Given the description of an element on the screen output the (x, y) to click on. 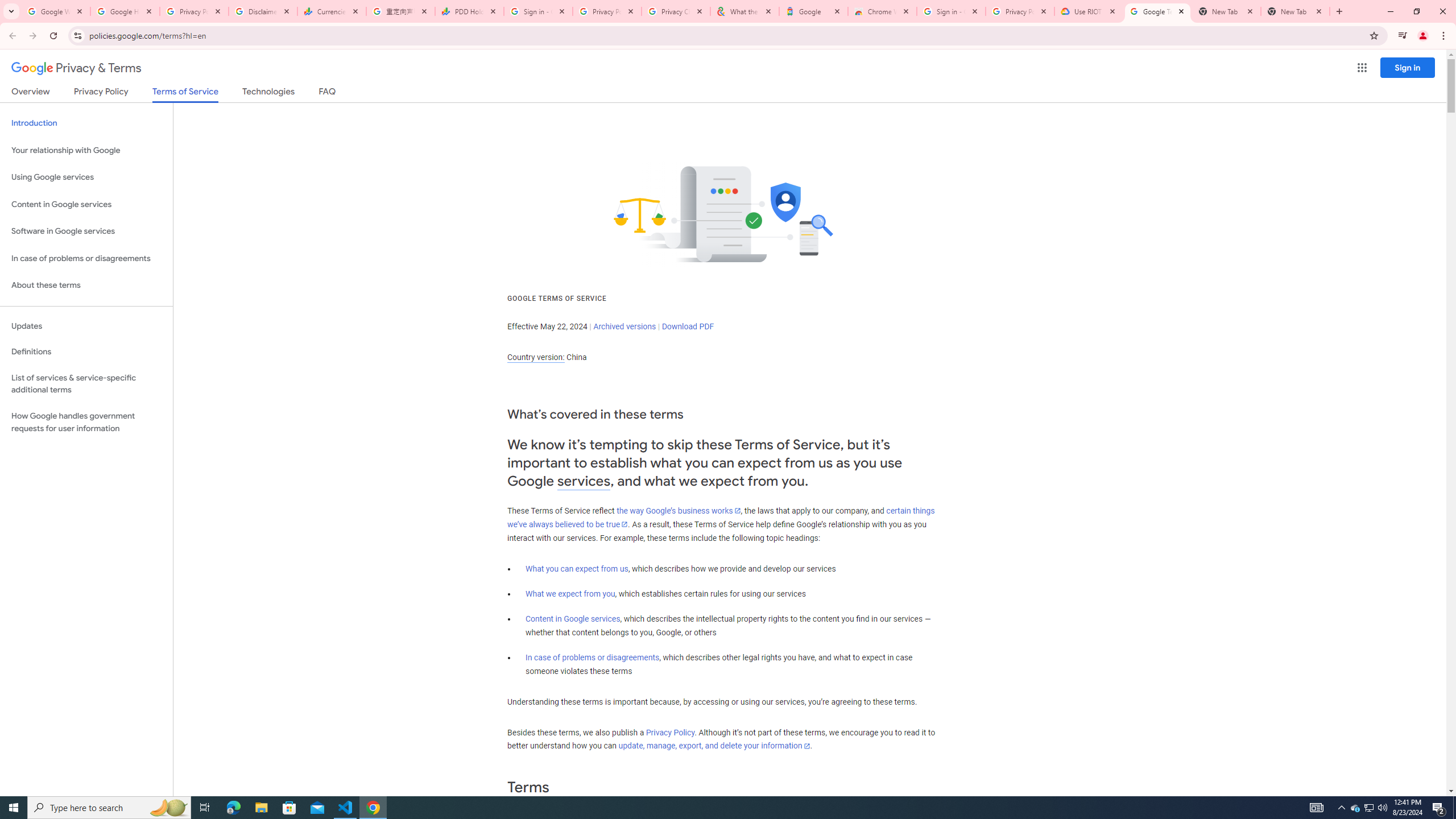
Sign in - Google Accounts (538, 11)
What you can expect from us (576, 568)
Software in Google services (86, 230)
Definitions (86, 352)
